Given the description of an element on the screen output the (x, y) to click on. 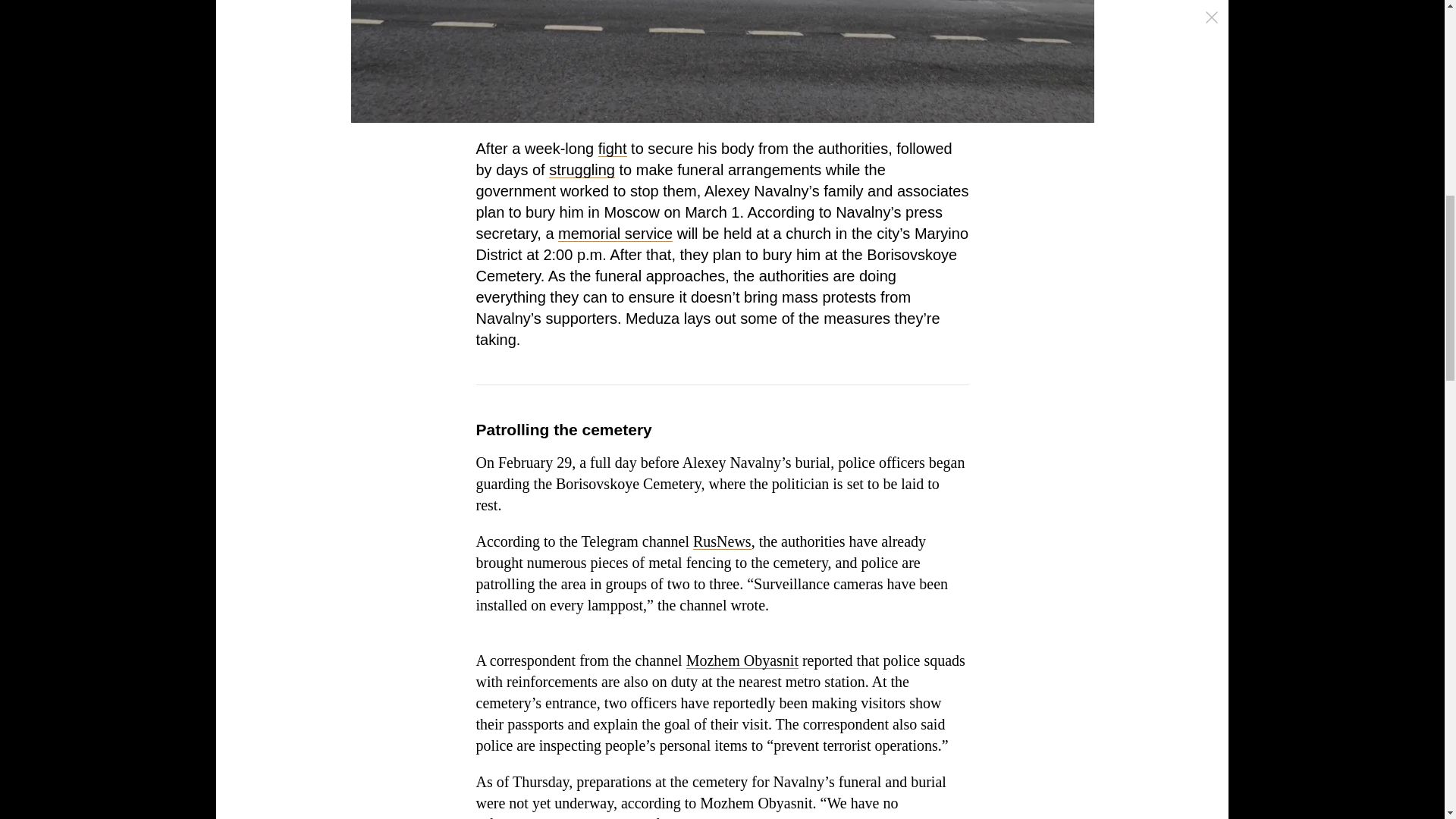
memorial service (614, 233)
RusNews (722, 541)
Mozhem Obyasnit (741, 660)
fight (612, 148)
struggling (581, 169)
